Given the description of an element on the screen output the (x, y) to click on. 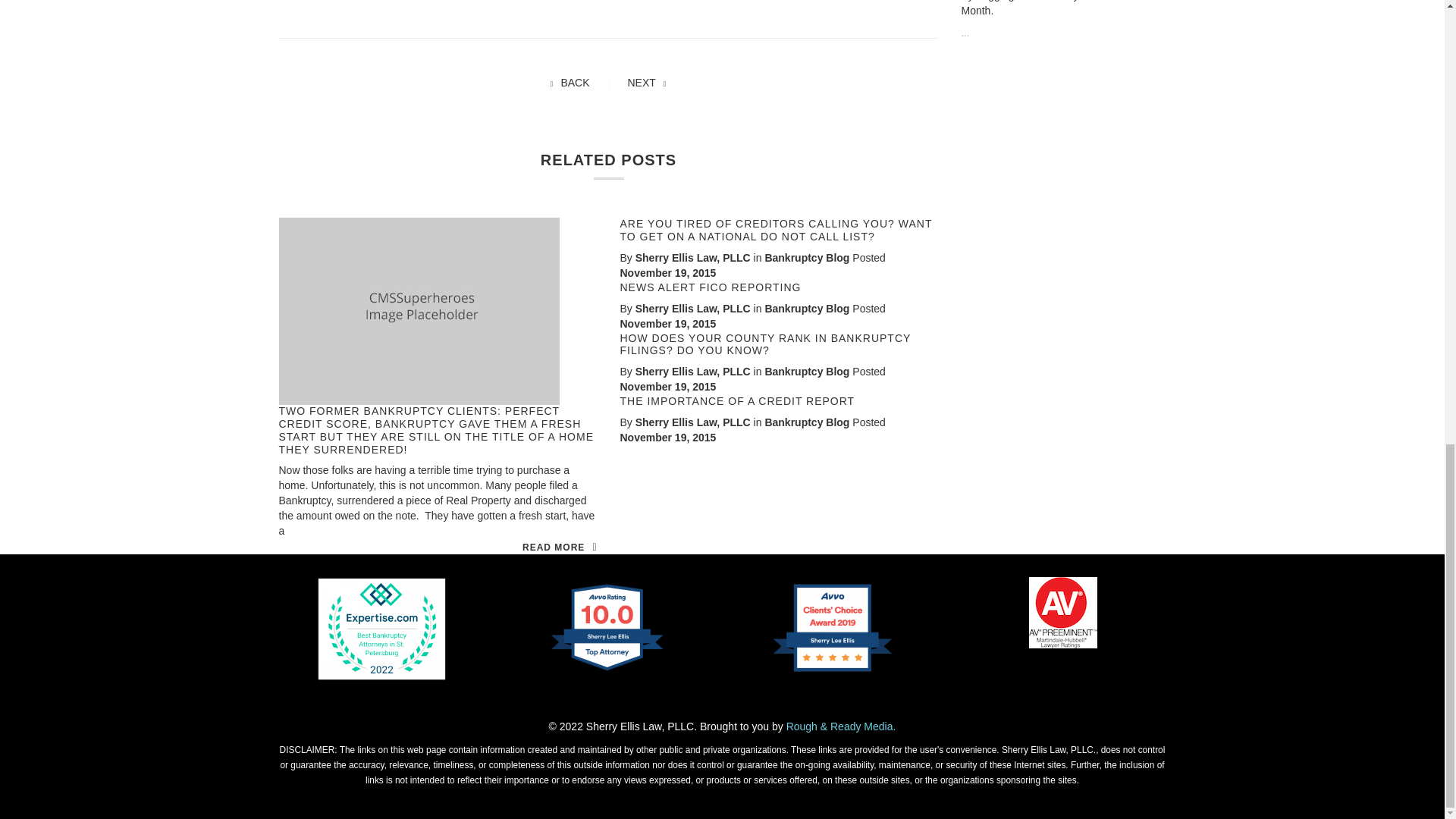
Posts by Sherry Ellis Law, PLLC (692, 308)
View all posts in Bankruptcy Blog (806, 308)
View all posts in Bankruptcy Blog (806, 371)
View all posts date November 19, 2015 (668, 272)
View all posts date November 19, 2015 (668, 323)
View all posts date November 19, 2015 (668, 437)
View all posts in Bankruptcy Blog (806, 422)
Posts by Sherry Ellis Law, PLLC (692, 371)
View all posts date November 19, 2015 (668, 386)
View all posts in Bankruptcy Blog (806, 257)
Posts by Sherry Ellis Law, PLLC (692, 422)
Posts by Sherry Ellis Law, PLLC (692, 257)
